Given the description of an element on the screen output the (x, y) to click on. 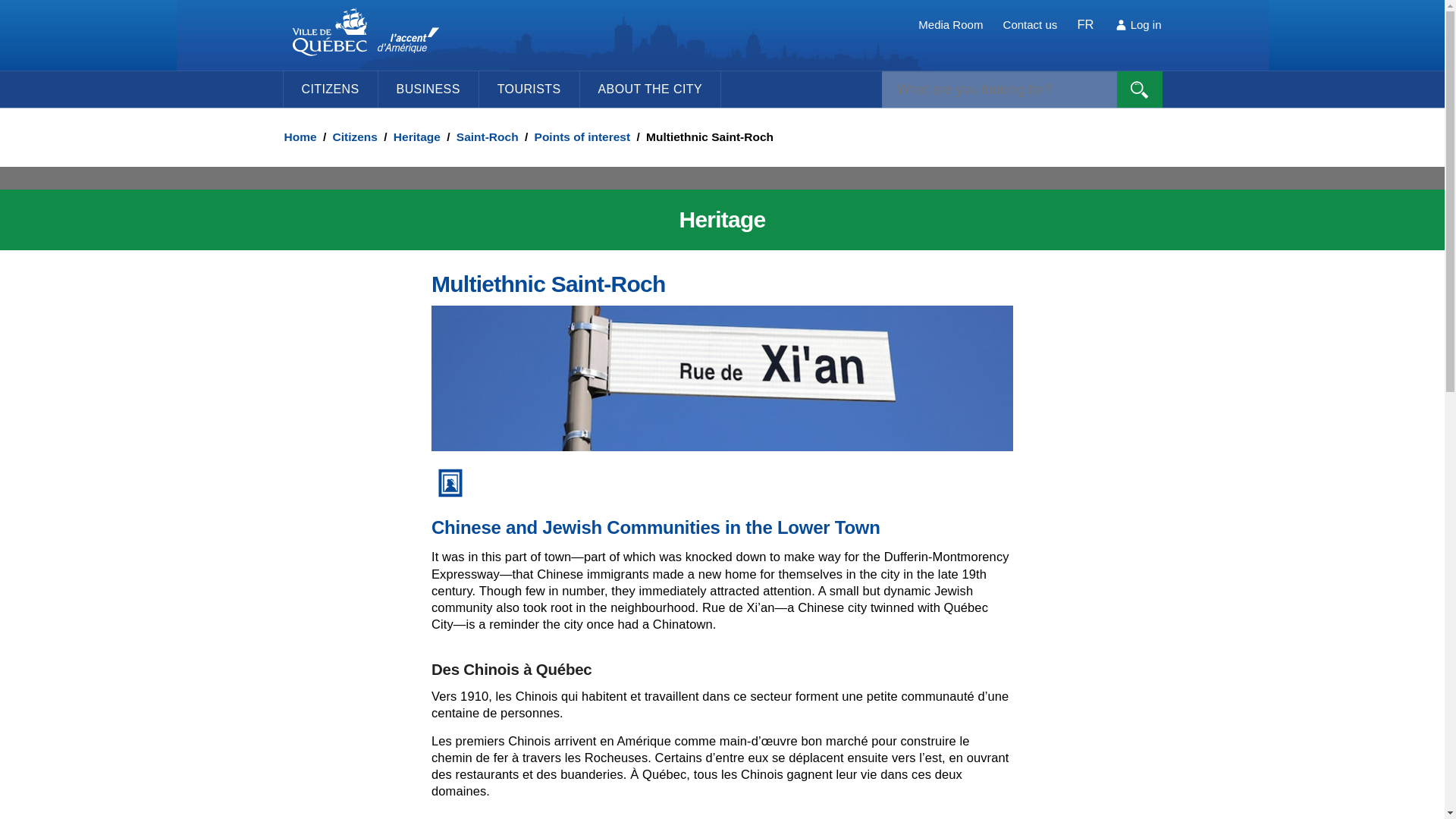
CITIZENS (329, 89)
Points of interest (582, 136)
Points of interest (582, 136)
Media Room (950, 24)
Citizens (354, 136)
BUSINESS (428, 89)
TOURISTS (529, 89)
Saint-Roch (486, 136)
Contact us (1029, 24)
